Given the description of an element on the screen output the (x, y) to click on. 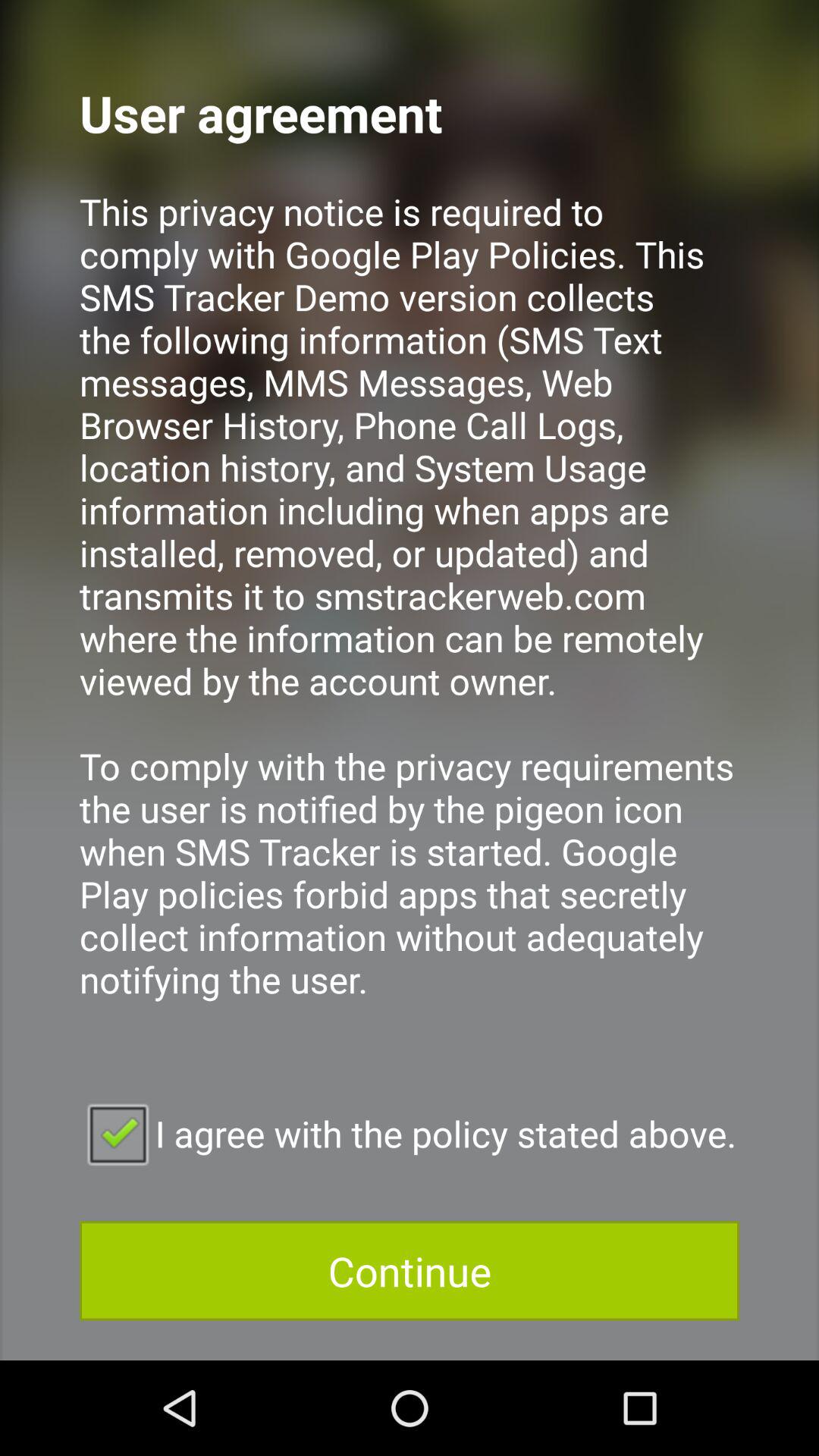
click checkbox below i agree with (409, 1270)
